Given the description of an element on the screen output the (x, y) to click on. 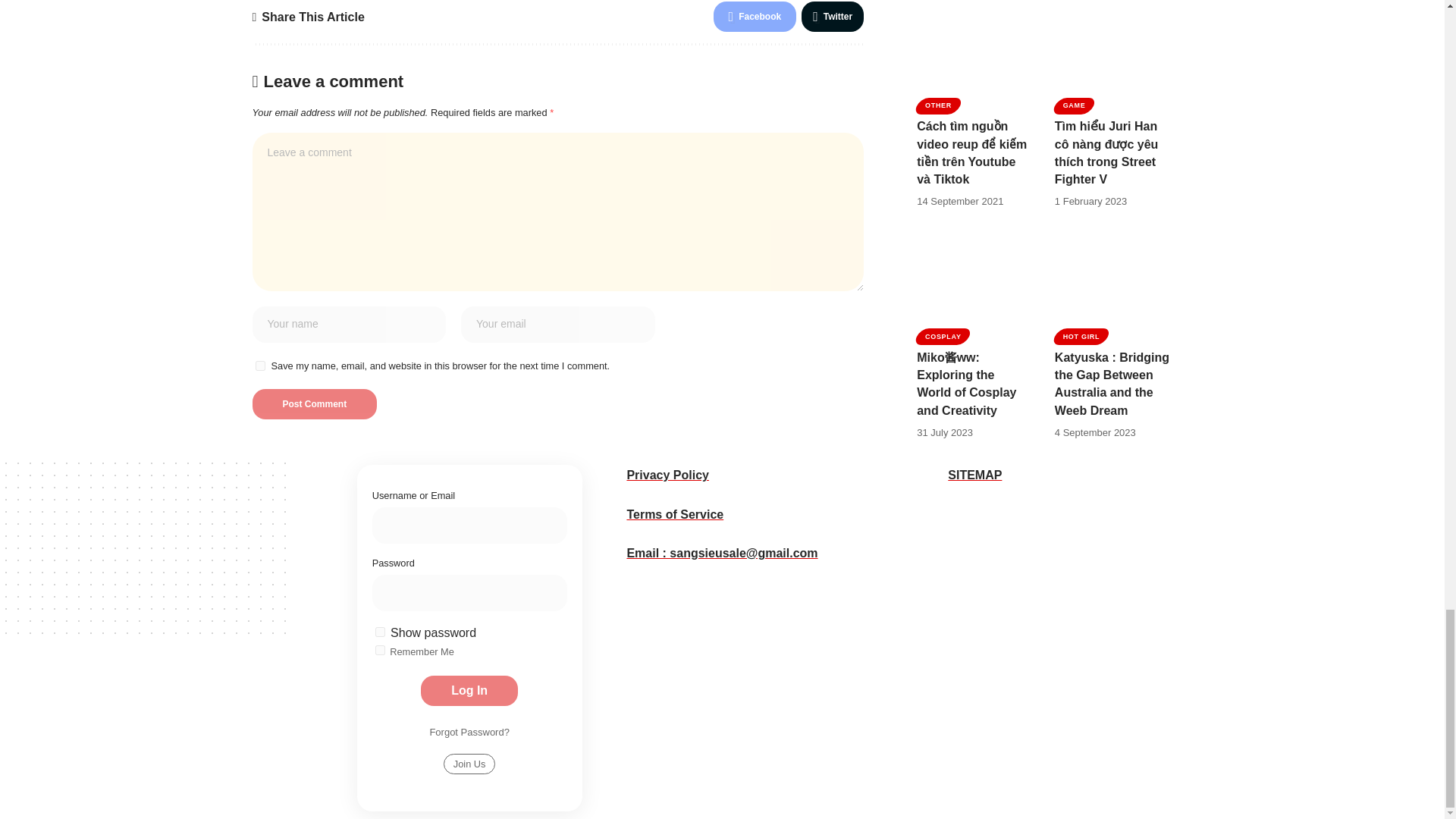
Post Comment (314, 404)
on (380, 650)
yes (259, 366)
on (380, 632)
Log In (469, 690)
